Given the description of an element on the screen output the (x, y) to click on. 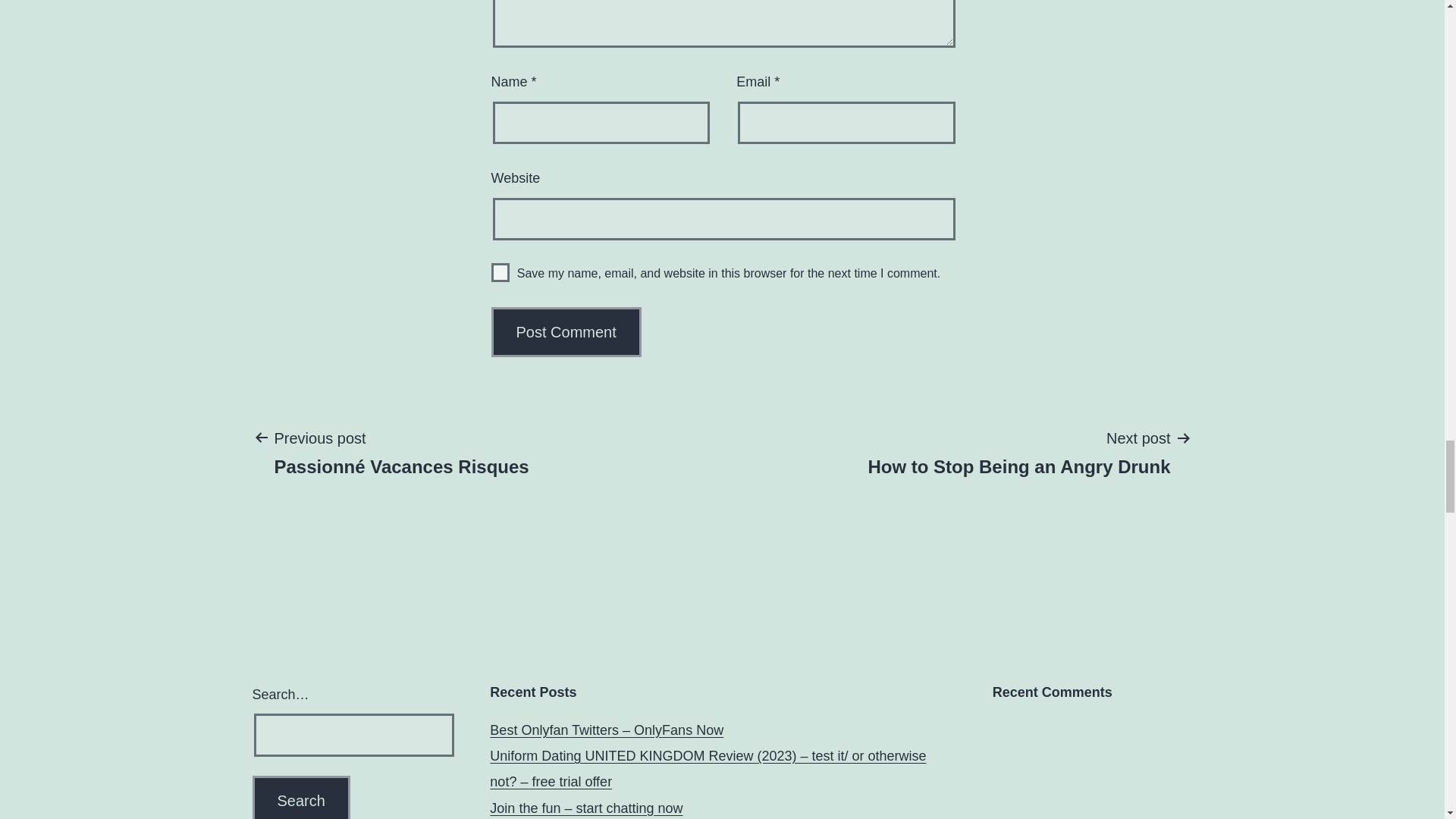
Post Comment (567, 332)
Search (300, 797)
Search (300, 797)
yes (500, 271)
Search (300, 797)
Post Comment (1018, 451)
